Given the description of an element on the screen output the (x, y) to click on. 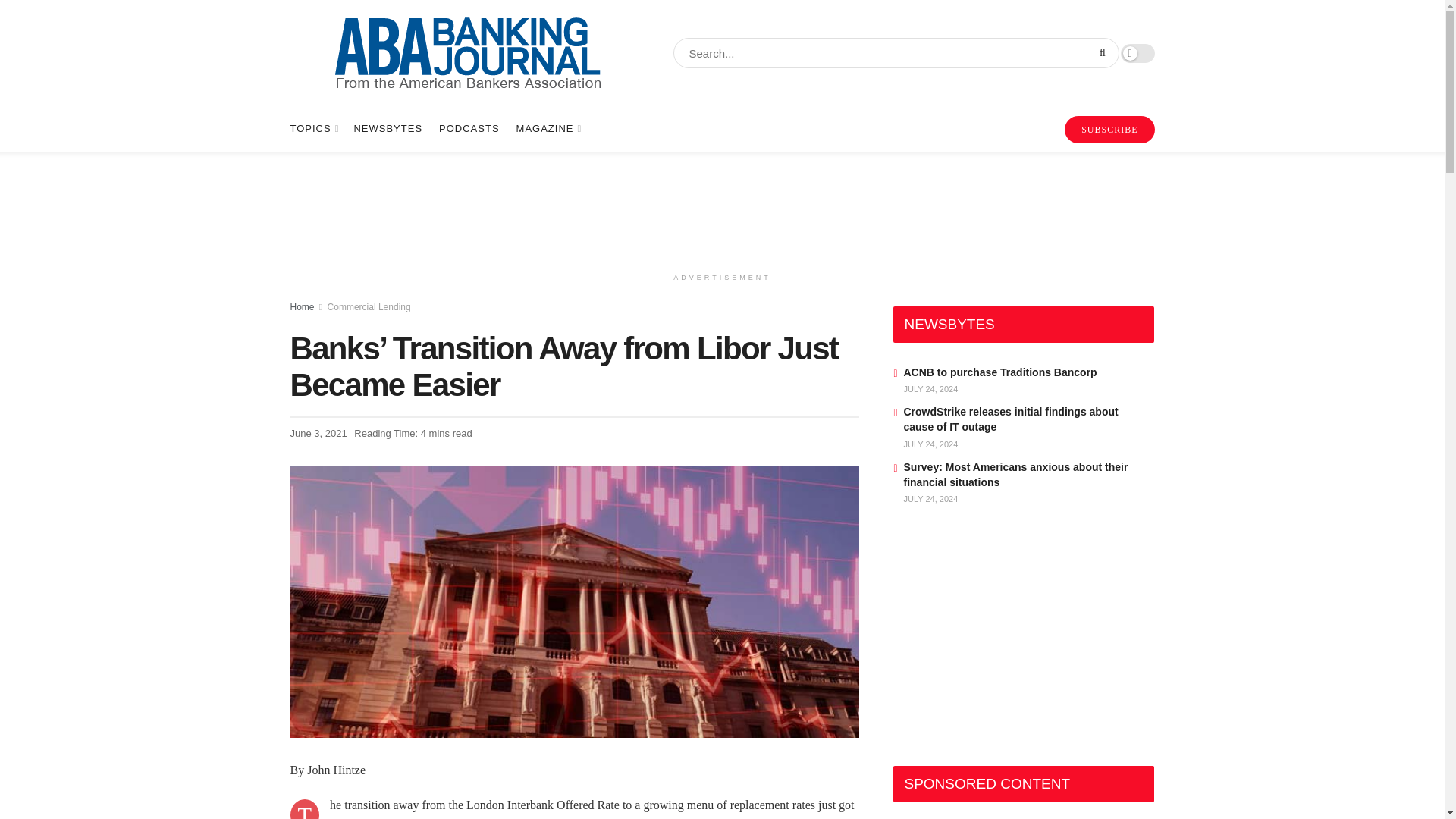
PODCASTS (469, 128)
3rd party ad content (721, 208)
3rd party ad content (1007, 640)
NEWSBYTES (387, 128)
SUBSCRIBE (1109, 129)
MAGAZINE (547, 128)
TOPICS (312, 128)
